Given the description of an element on the screen output the (x, y) to click on. 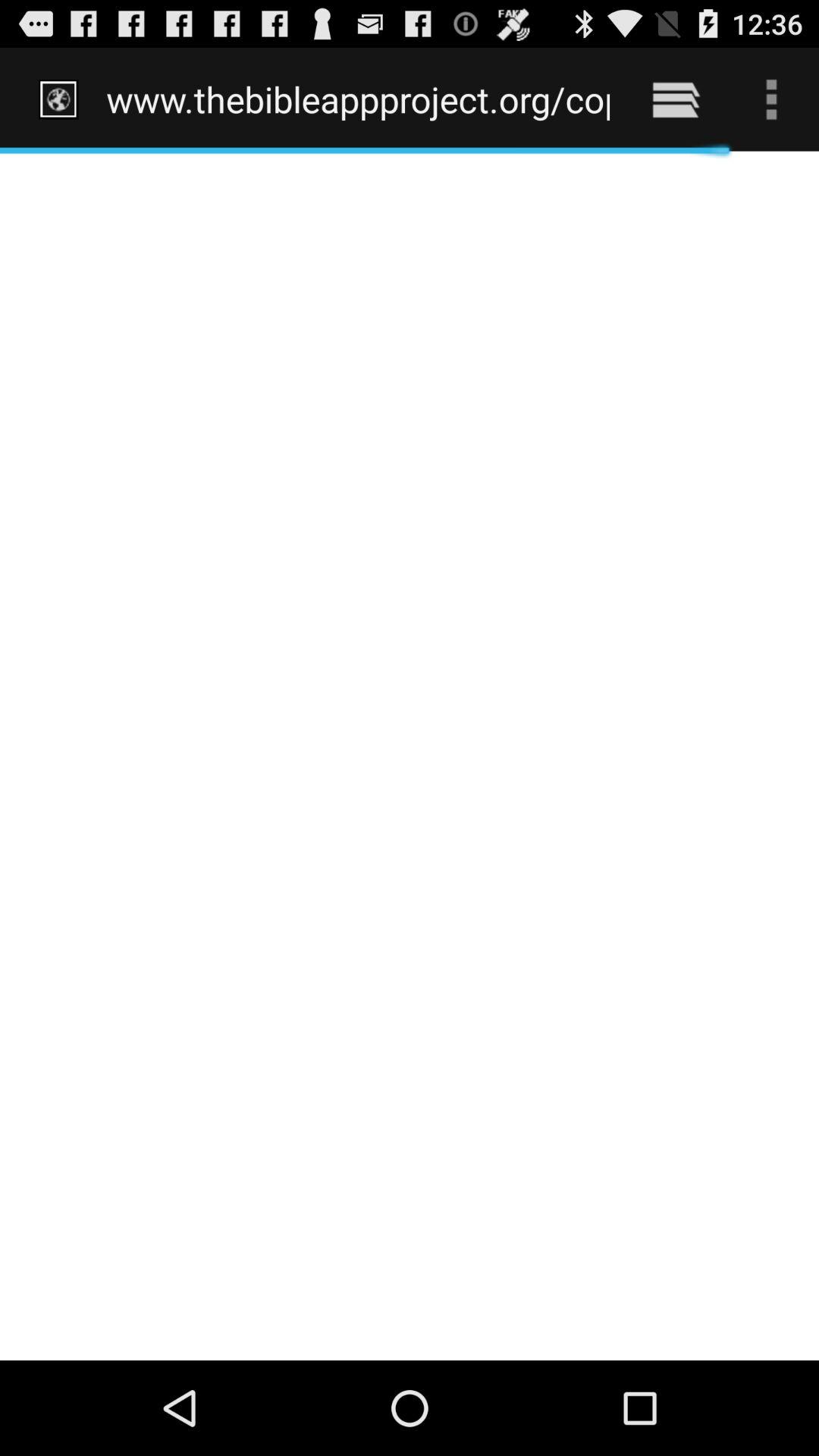
select item to the right of www thebibleappproject org (675, 99)
